Given the description of an element on the screen output the (x, y) to click on. 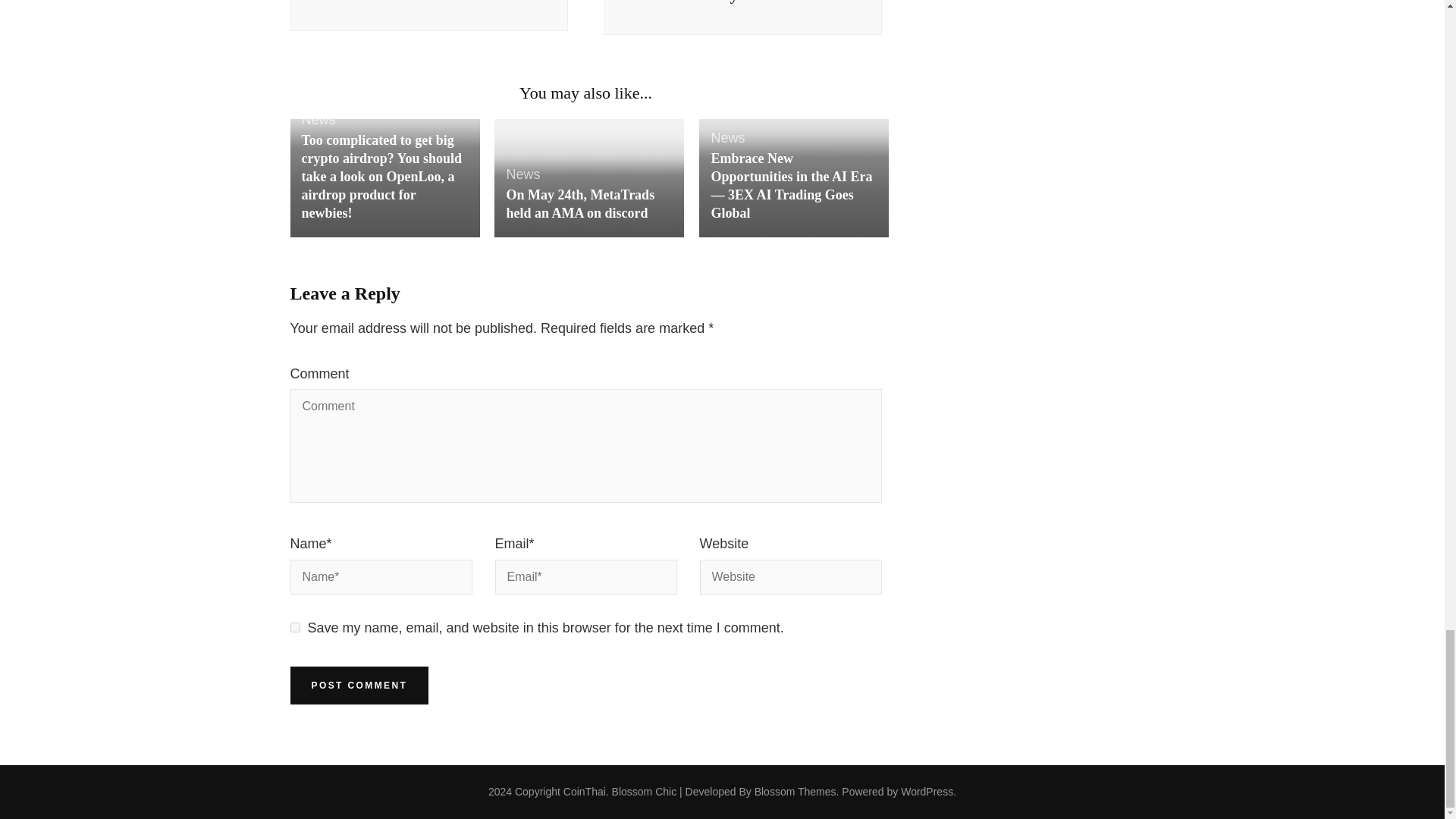
CoinThai (584, 791)
Blossom Themes (794, 791)
On May 24th, MetaTrads held an AMA on discord (579, 203)
News (522, 174)
News (318, 119)
Post Comment (358, 685)
WordPress (927, 791)
News (727, 137)
yes (294, 627)
Post Comment (358, 685)
